Given the description of an element on the screen output the (x, y) to click on. 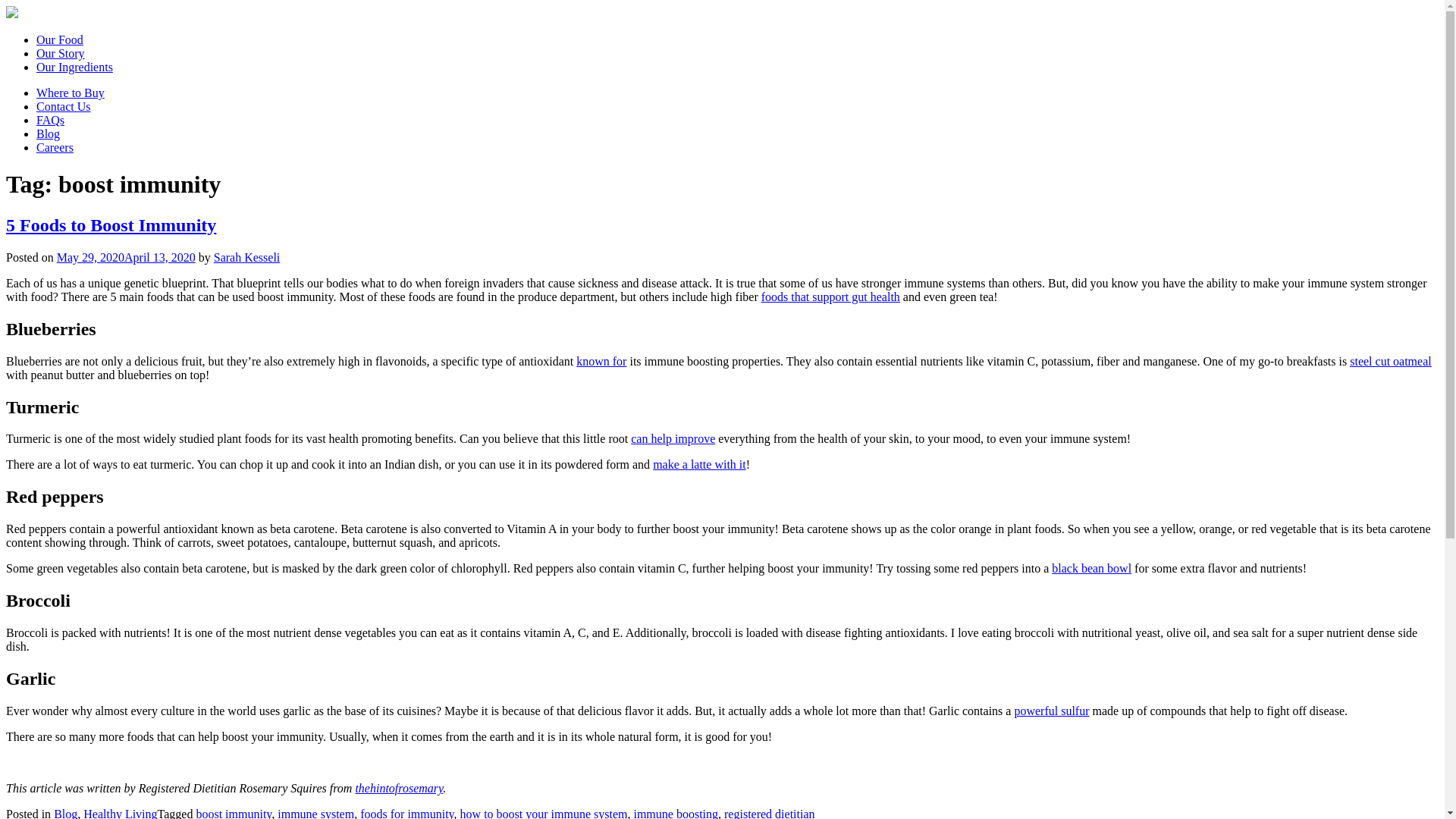
registered dietitian (769, 813)
Where to Buy (70, 92)
black bean bowl (1091, 567)
5 Foods to Boost Immunity (110, 225)
powerful sulfur (1051, 710)
thehintofrosemary (398, 788)
steel cut oatmeal (1390, 360)
foods that support gut health (830, 296)
can help improve (672, 438)
make a latte with it (698, 463)
Our Food (59, 39)
May 29, 2020April 13, 2020 (125, 256)
immune boosting (675, 813)
boost immunity (232, 813)
Contact Us (63, 106)
